Given the description of an element on the screen output the (x, y) to click on. 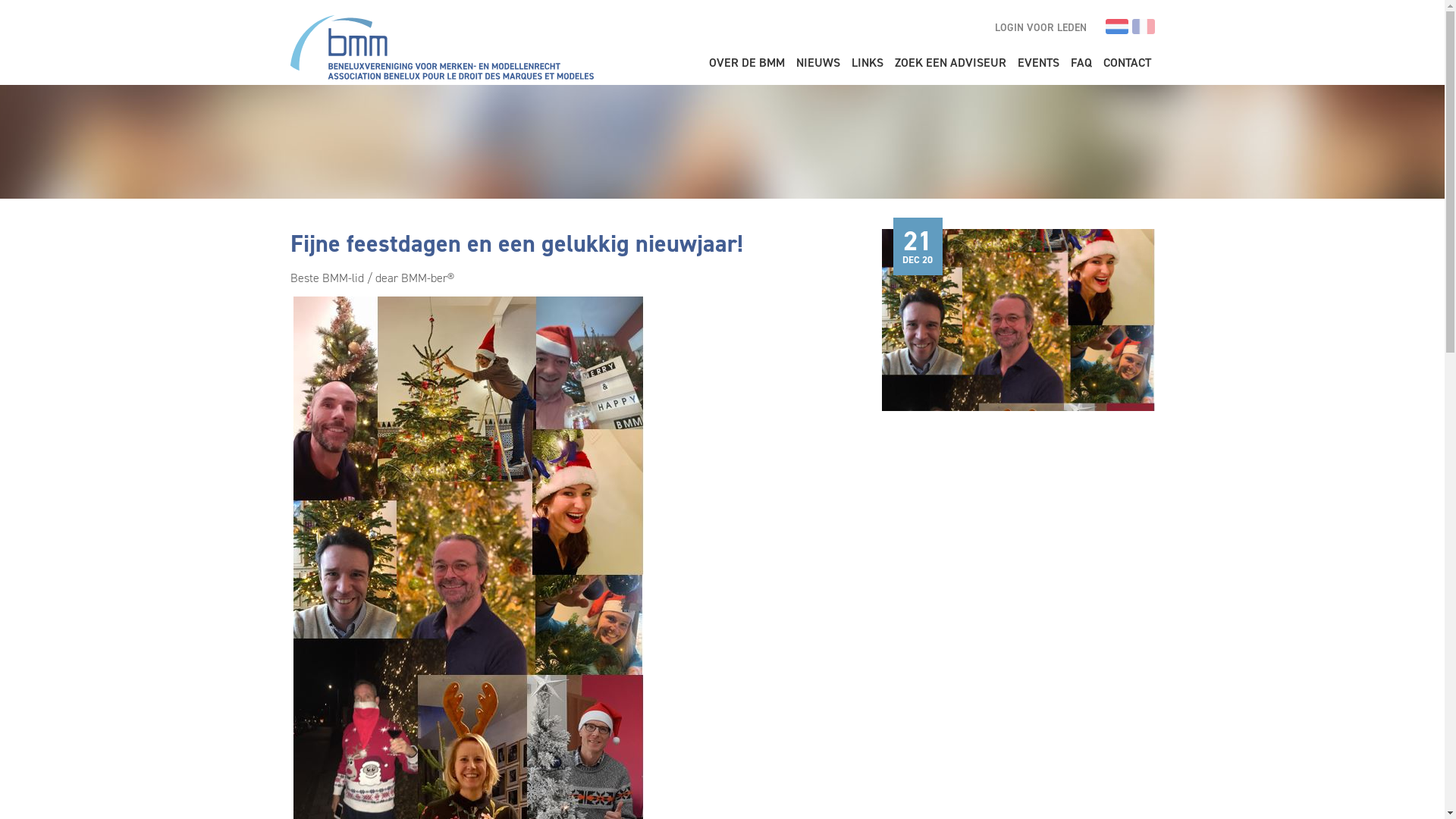
OVER DE BMM Element type: text (746, 63)
EVENTS Element type: text (1037, 63)
LOGIN VOOR LEDEN Element type: text (1039, 28)
NIEUWS Element type: text (817, 63)
ZOEK EEN ADVISEUR Element type: text (949, 63)
FAQ Element type: text (1080, 63)
LINKS Element type: text (867, 63)
Beneluxvereniging voor Merken- en Modellenrecht Element type: hover (441, 45)
Nederlands Element type: text (1116, 26)
CONTACT Element type: text (1126, 63)
